Given the description of an element on the screen output the (x, y) to click on. 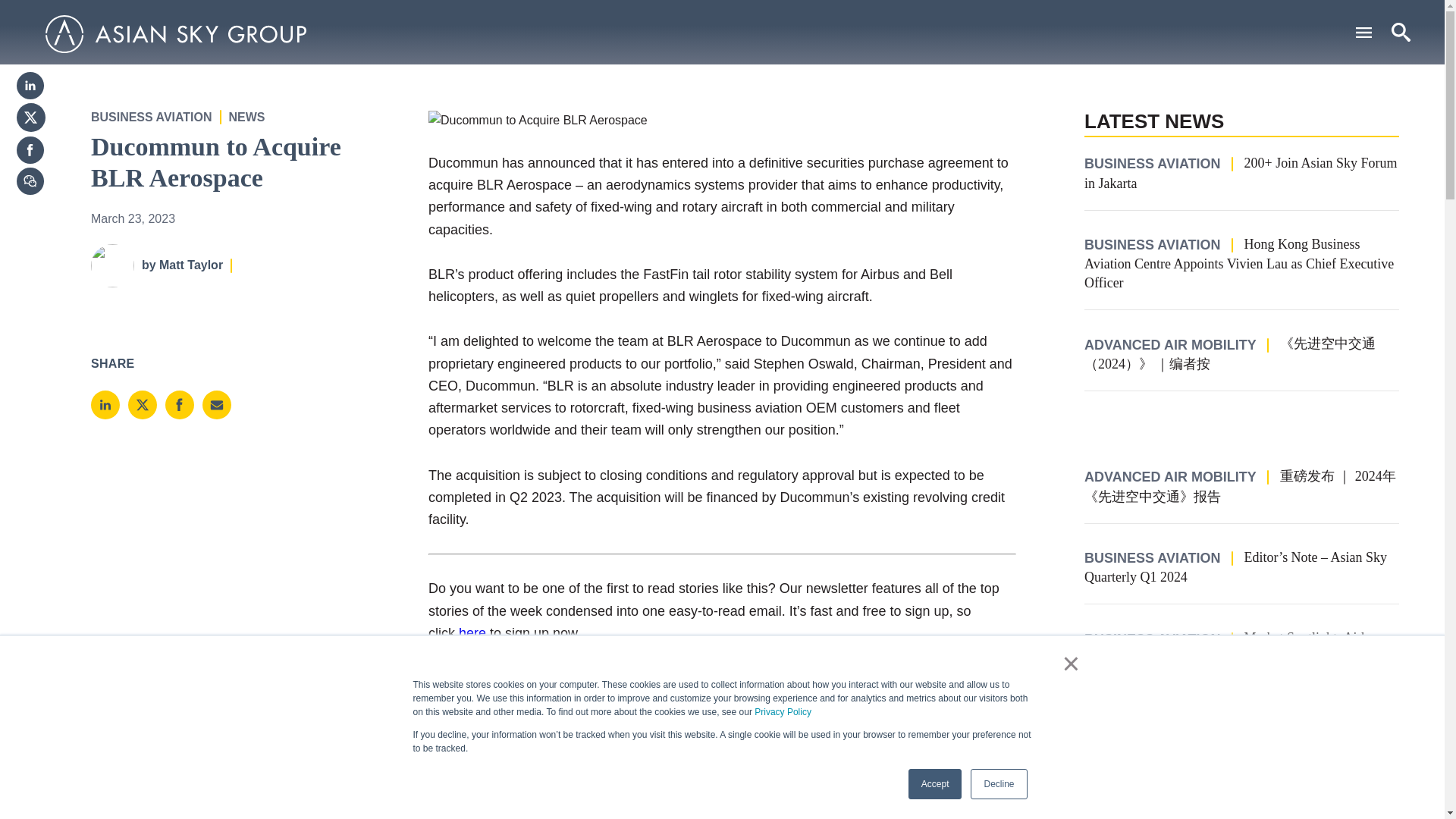
Privacy Policy (782, 711)
Decline (998, 784)
Accept (935, 784)
Asian Sky Group (175, 34)
